Given the description of an element on the screen output the (x, y) to click on. 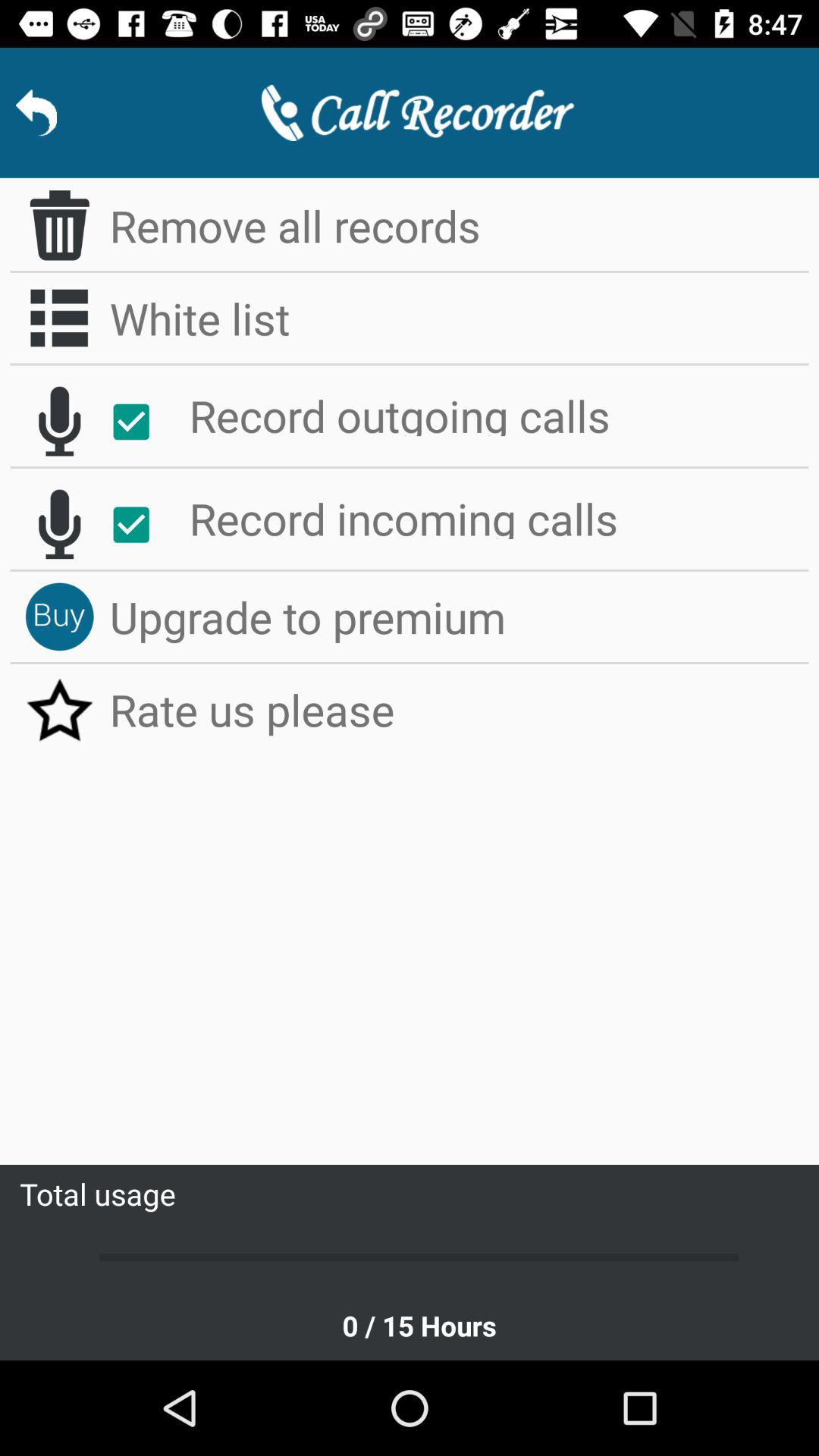
start recording (59, 524)
